Given the description of an element on the screen output the (x, y) to click on. 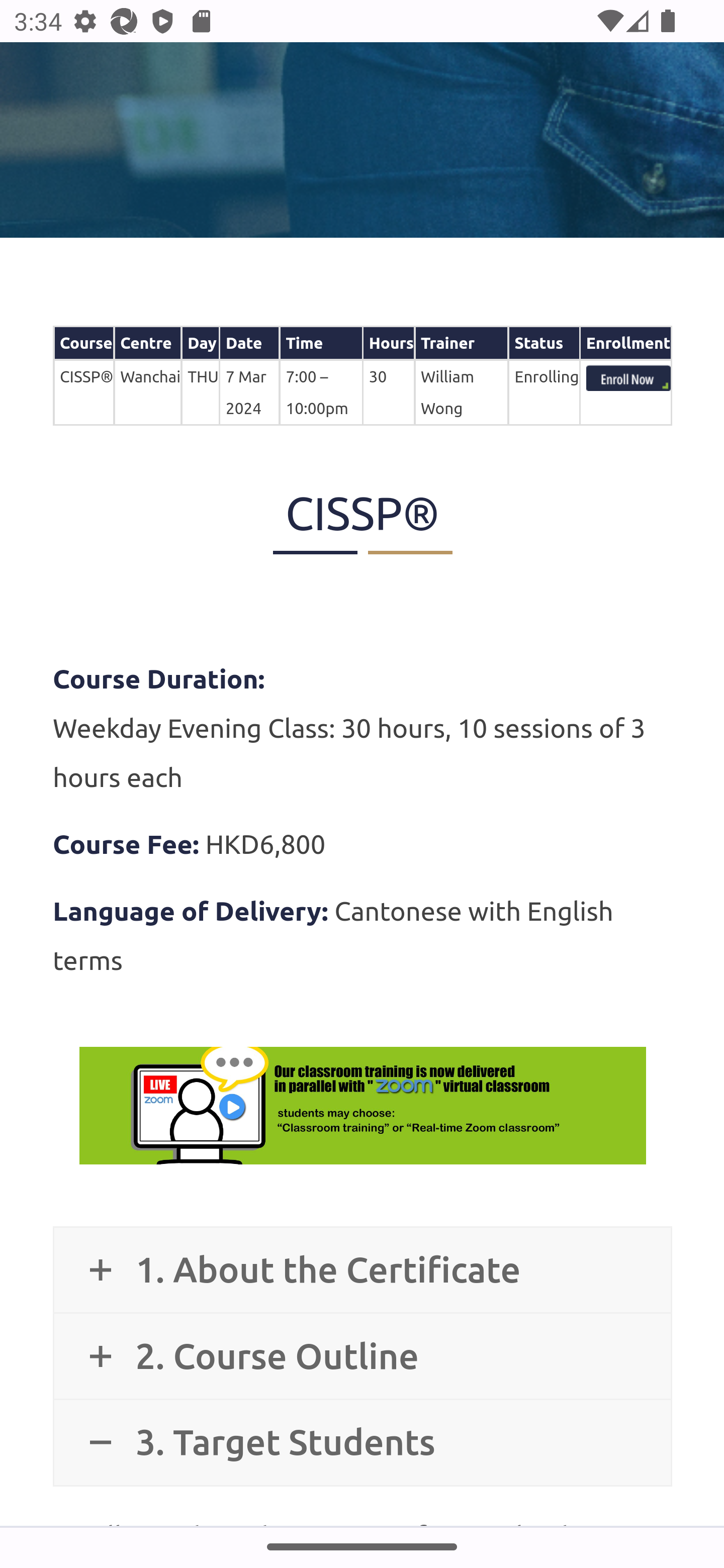
index (627, 379)
